Given the description of an element on the screen output the (x, y) to click on. 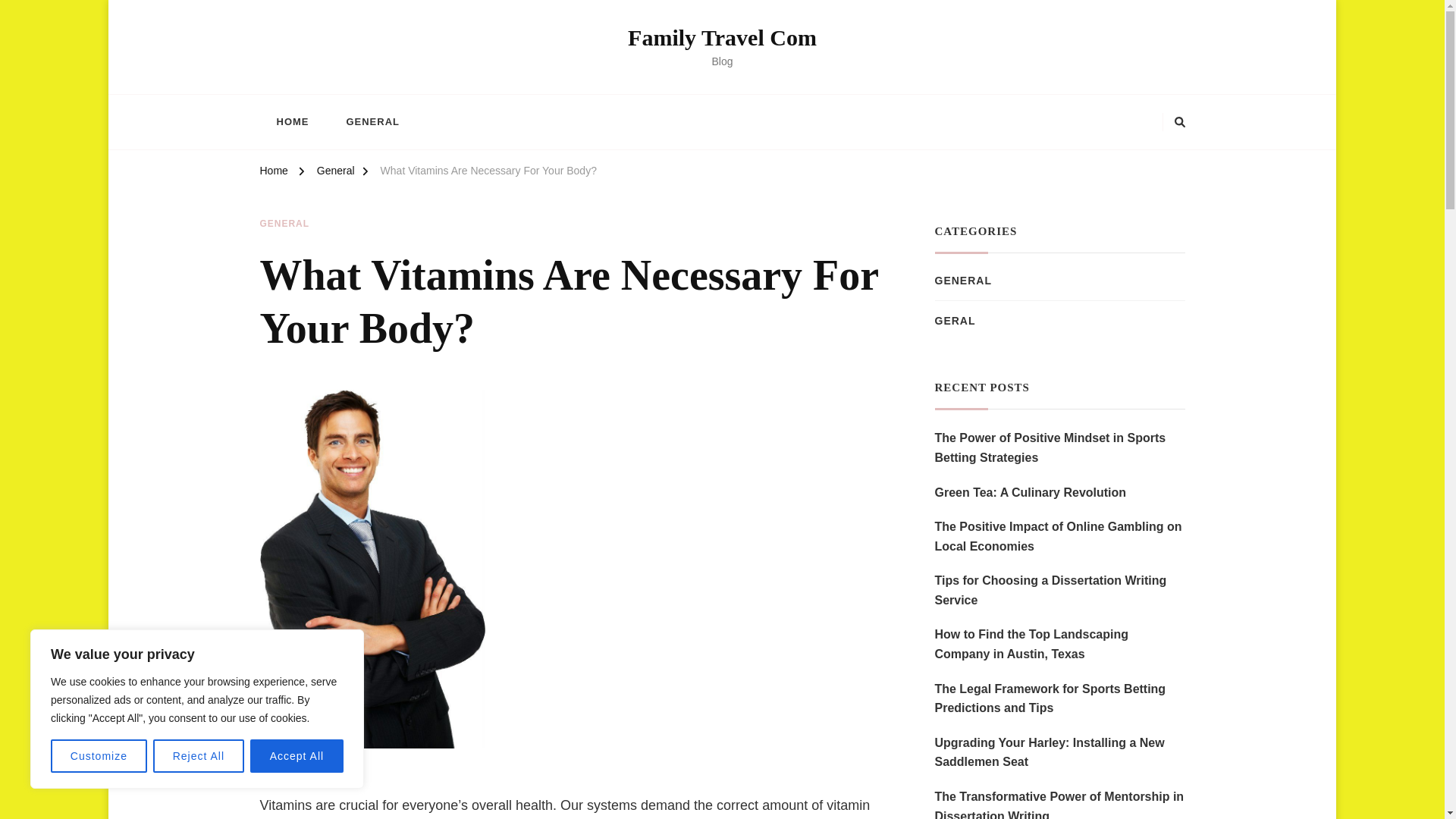
Customize (98, 756)
Family Travel Com (721, 37)
GENERAL (283, 223)
HOME (291, 121)
Accept All (296, 756)
Home (272, 172)
What Vitamins Are Necessary For Your Body? (488, 172)
GENERAL (371, 121)
General (336, 172)
Reject All (198, 756)
